Given the description of an element on the screen output the (x, y) to click on. 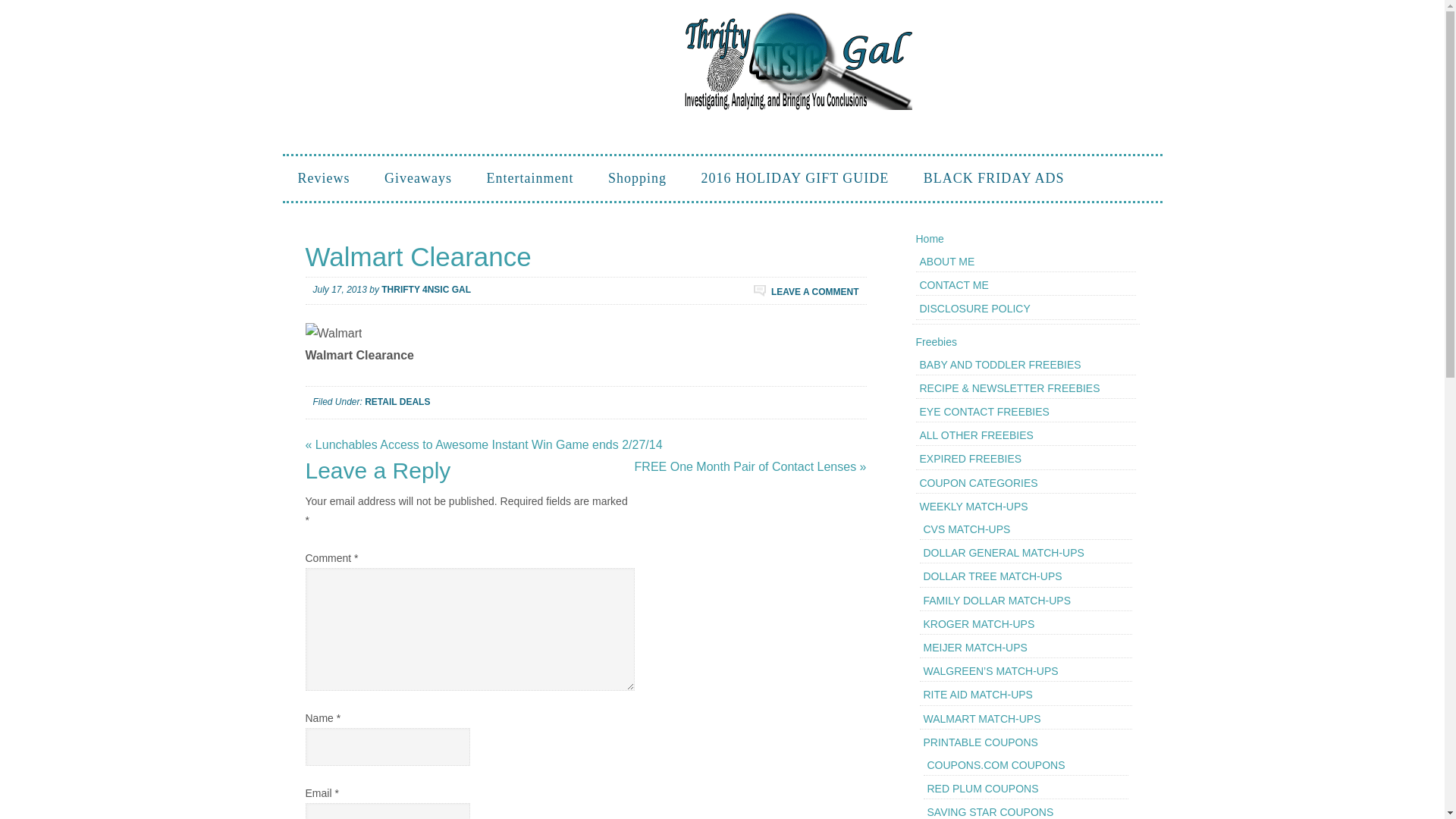
ABOUT ME (946, 261)
Giveaways (418, 178)
Shopping (636, 178)
Home (929, 238)
RETAIL DEALS (397, 401)
Entertainment (529, 178)
Thrifty 4NSIC Gal (797, 60)
Reviews (323, 178)
2016 HOLIDAY GIFT GUIDE (794, 178)
LEAVE A COMMENT (806, 290)
